Given the description of an element on the screen output the (x, y) to click on. 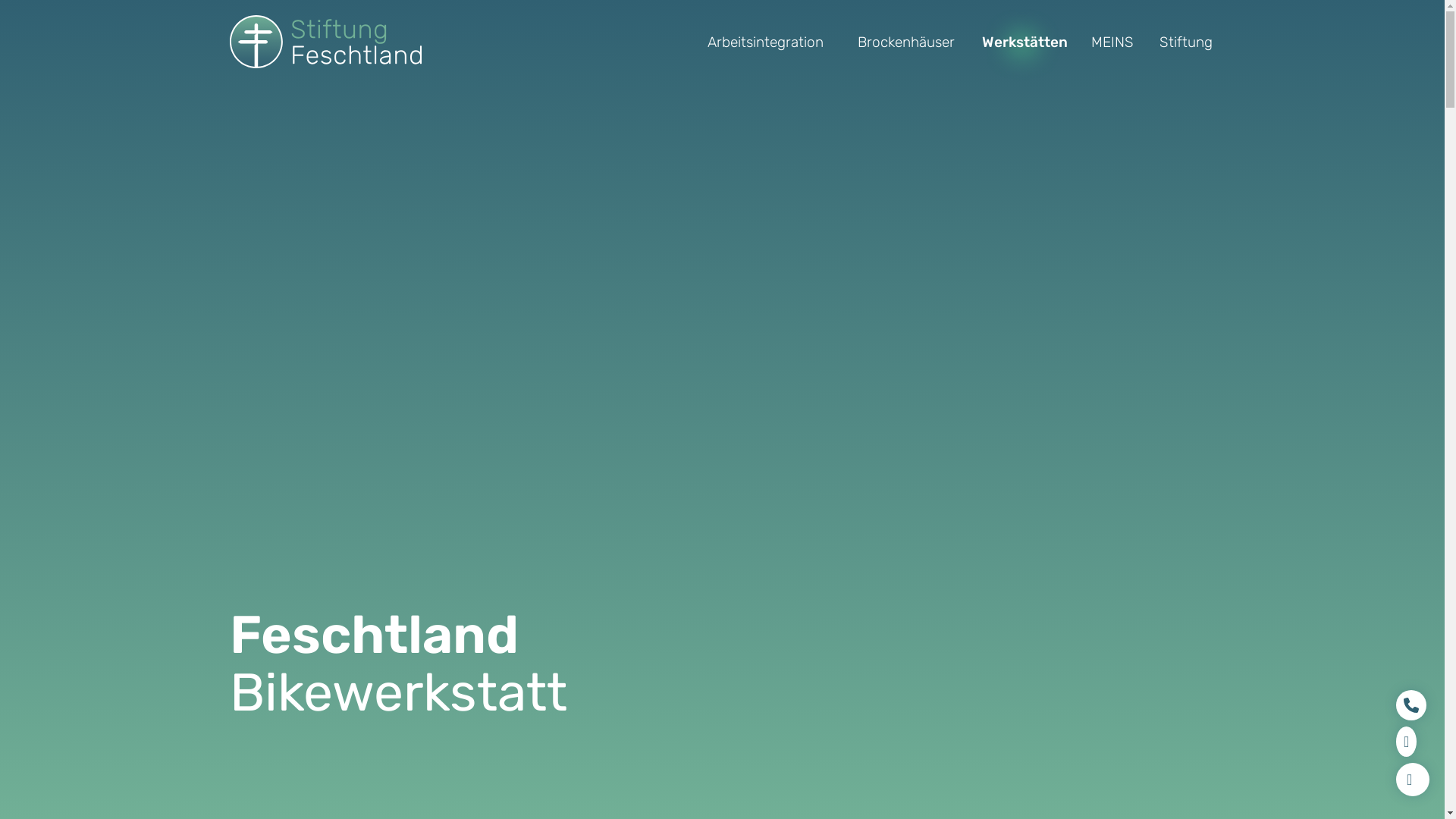
MEINS Element type: text (1112, 41)
bikewerkstatt@feschtland.ch Element type: hover (1406, 741)
Stiftung Element type: text (1186, 41)
Stiftung Feschtland Startseite Element type: hover (324, 41)
